Given the description of an element on the screen output the (x, y) to click on. 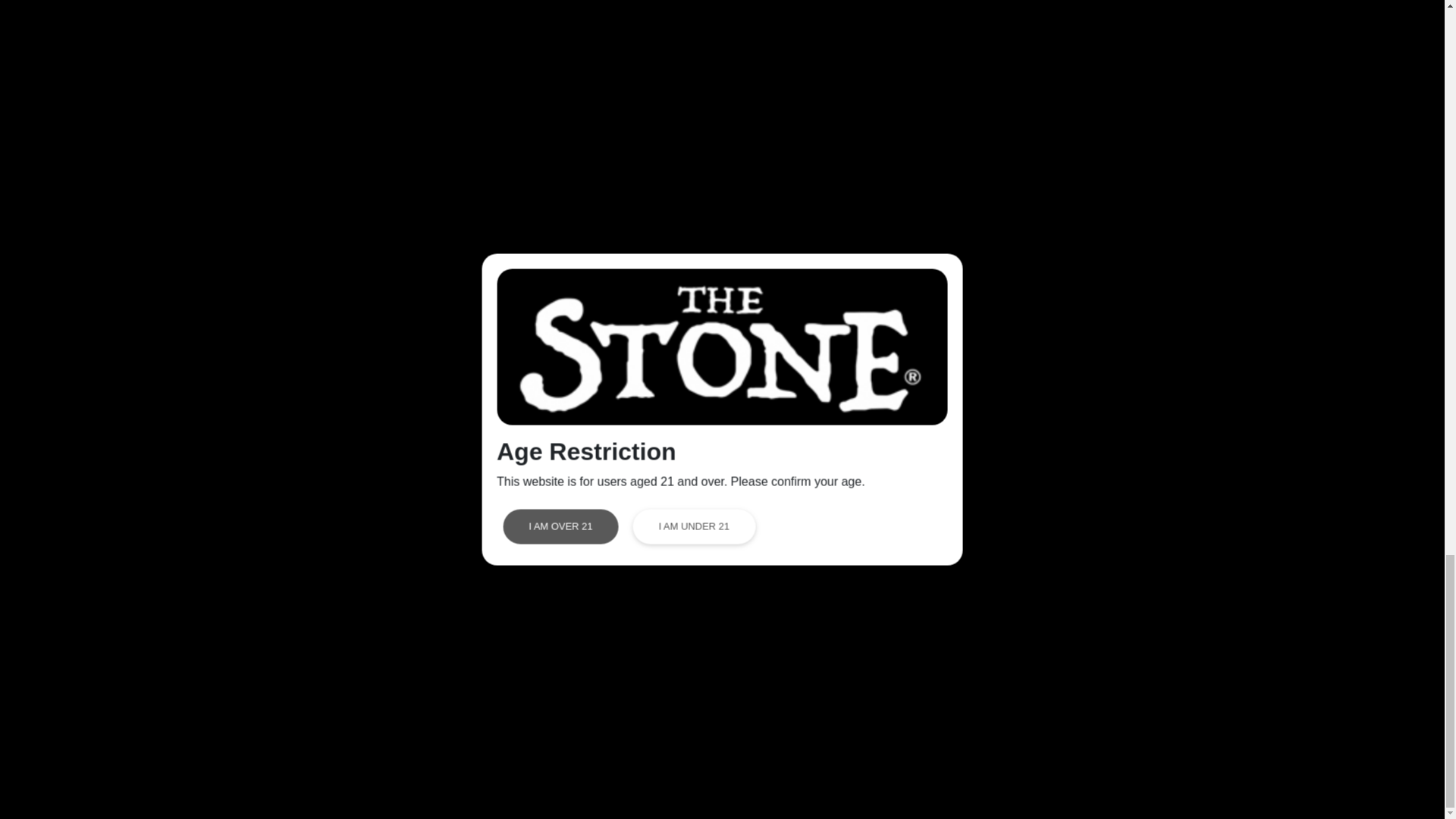
STORE INFO (424, 660)
CONTACT US (1146, 652)
CONTACT (644, 660)
DEALS (635, 608)
Twitter (881, 633)
Instagram (890, 658)
ORDER NOW (425, 686)
BRANDS (412, 712)
BLOG (632, 634)
Facebook (890, 607)
ABOUT US (418, 634)
HOME (405, 608)
